Given the description of an element on the screen output the (x, y) to click on. 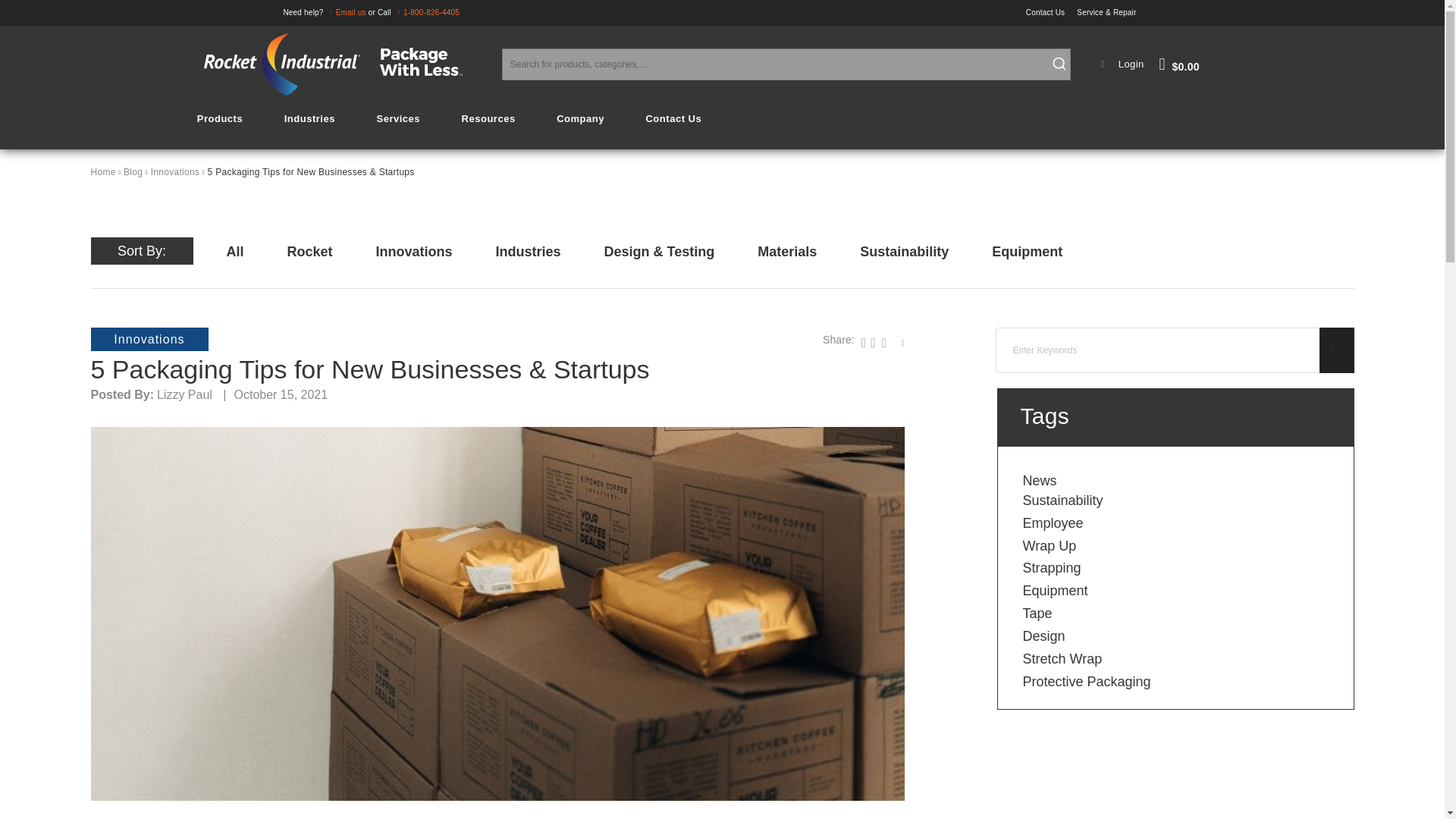
Rocket Industrial Logo (342, 64)
Submit (1059, 64)
1-800-826-4405 (426, 12)
Contact Us (1051, 12)
Products (219, 118)
Login (1124, 64)
Contact Us (1051, 12)
Email us (346, 12)
